Given the description of an element on the screen output the (x, y) to click on. 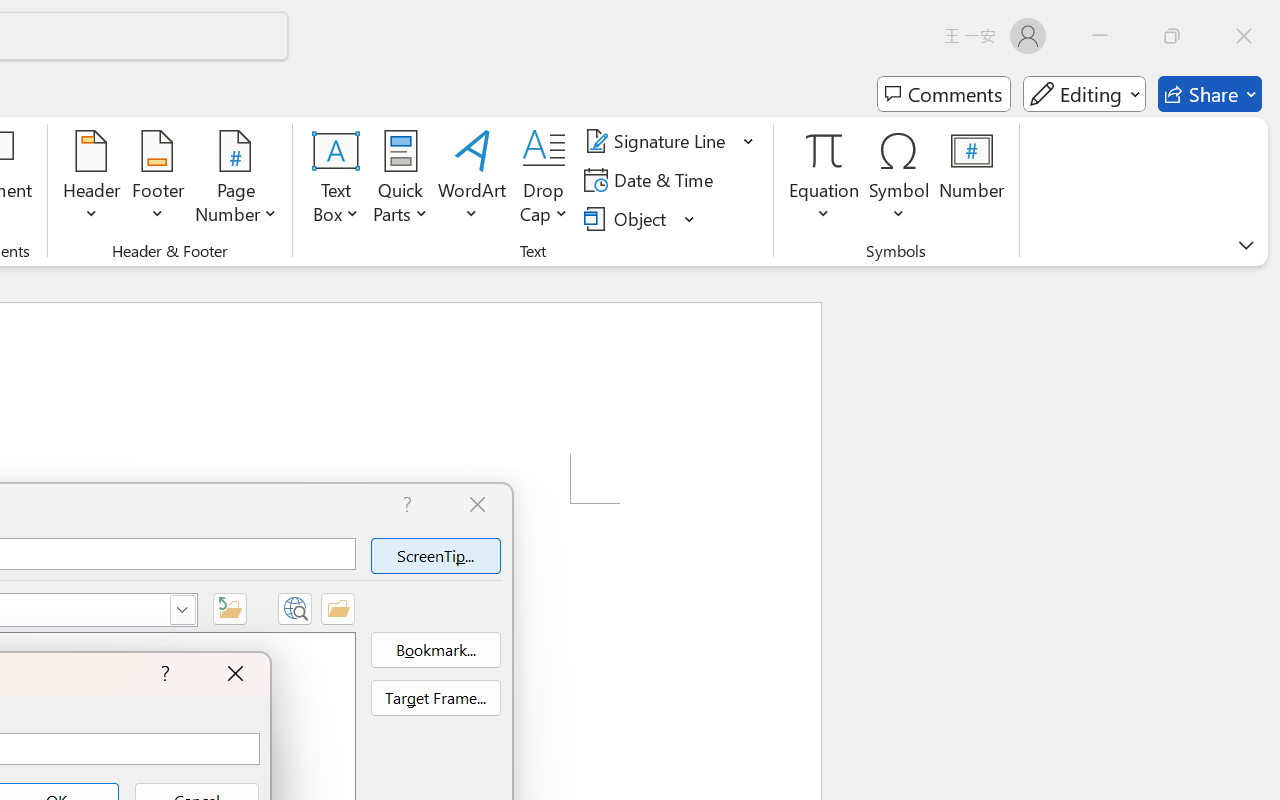
WordArt (472, 179)
More Options (823, 206)
Header (92, 179)
